Given the description of an element on the screen output the (x, y) to click on. 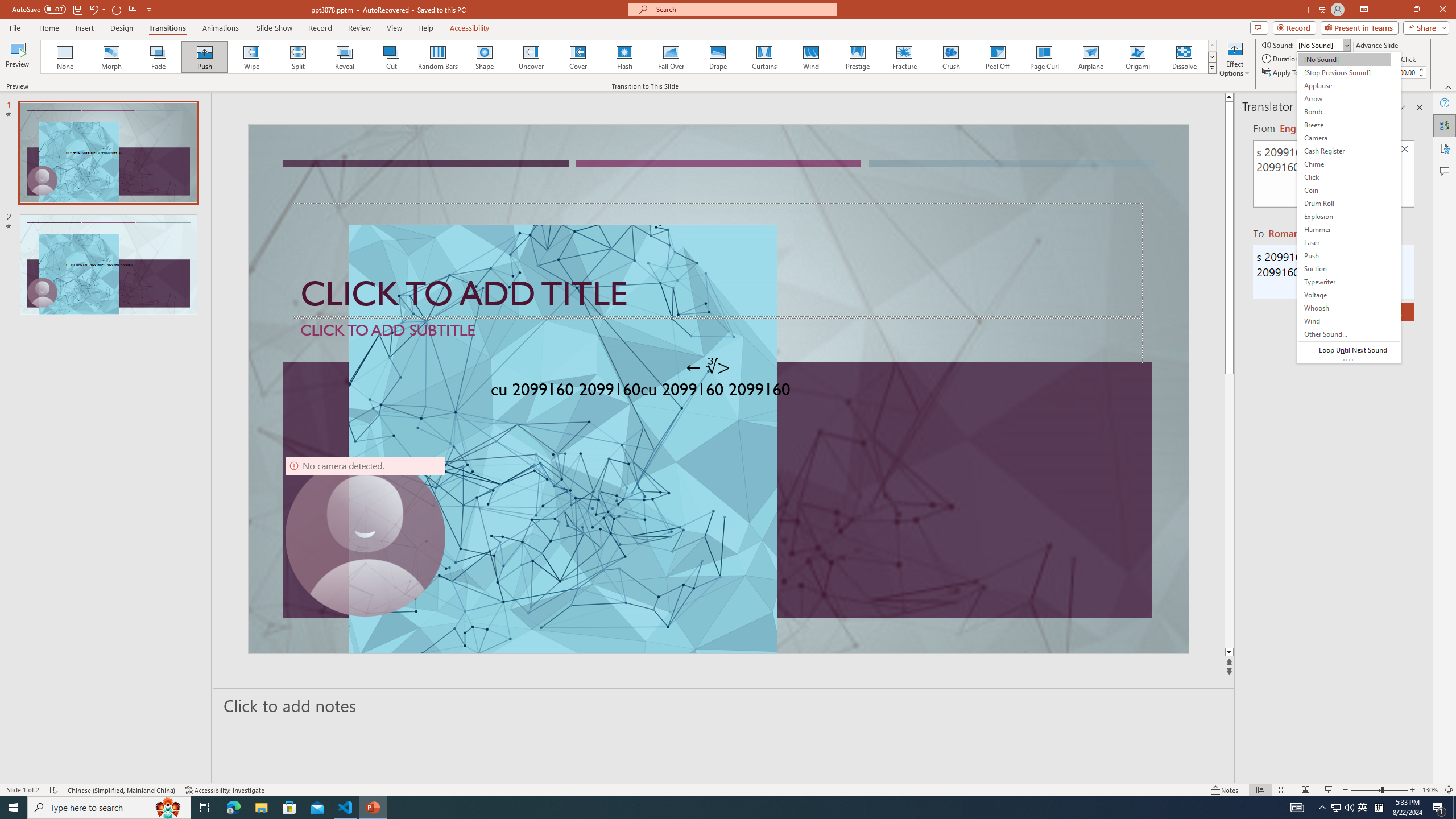
Camera 9, No camera detected. (364, 536)
